Given the description of an element on the screen output the (x, y) to click on. 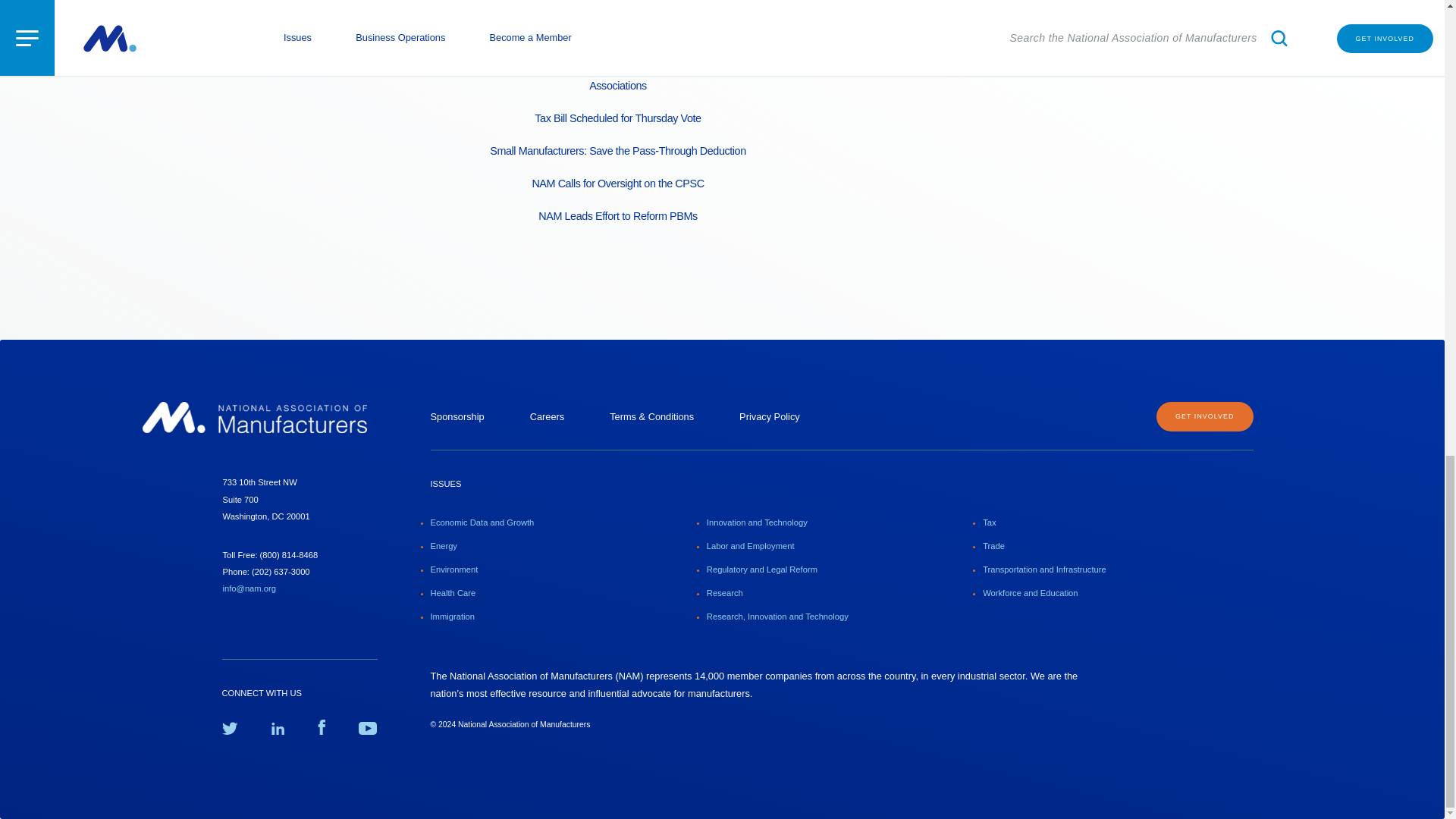
Tax Bill Scheduled for Thursday Vote (616, 111)
NAM Leads Effort to Reform PBMs (616, 209)
Small Manufacturers: Save the Pass-Through Deduction (616, 143)
NAM Calls for Oversight on the CPSC (616, 176)
